Given the description of an element on the screen output the (x, y) to click on. 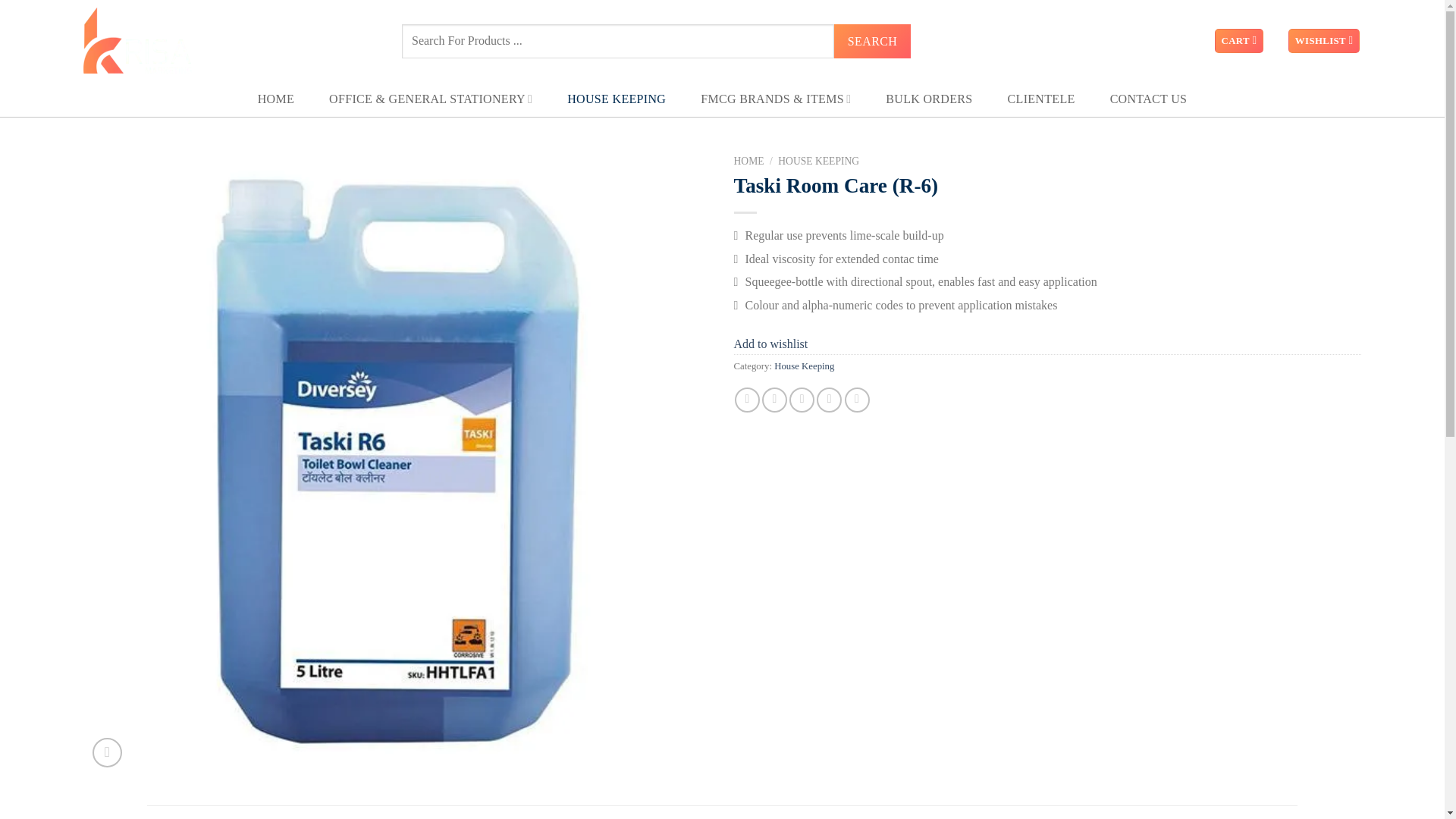
Krisa Marketing (145, 40)
HOME (275, 99)
Zoom (107, 752)
Cart (1238, 41)
Search (872, 41)
WISHLIST (1323, 41)
Share on Twitter (774, 399)
HOUSE KEEPING (616, 99)
Share on Facebook (747, 399)
CART (1238, 41)
